Given the description of an element on the screen output the (x, y) to click on. 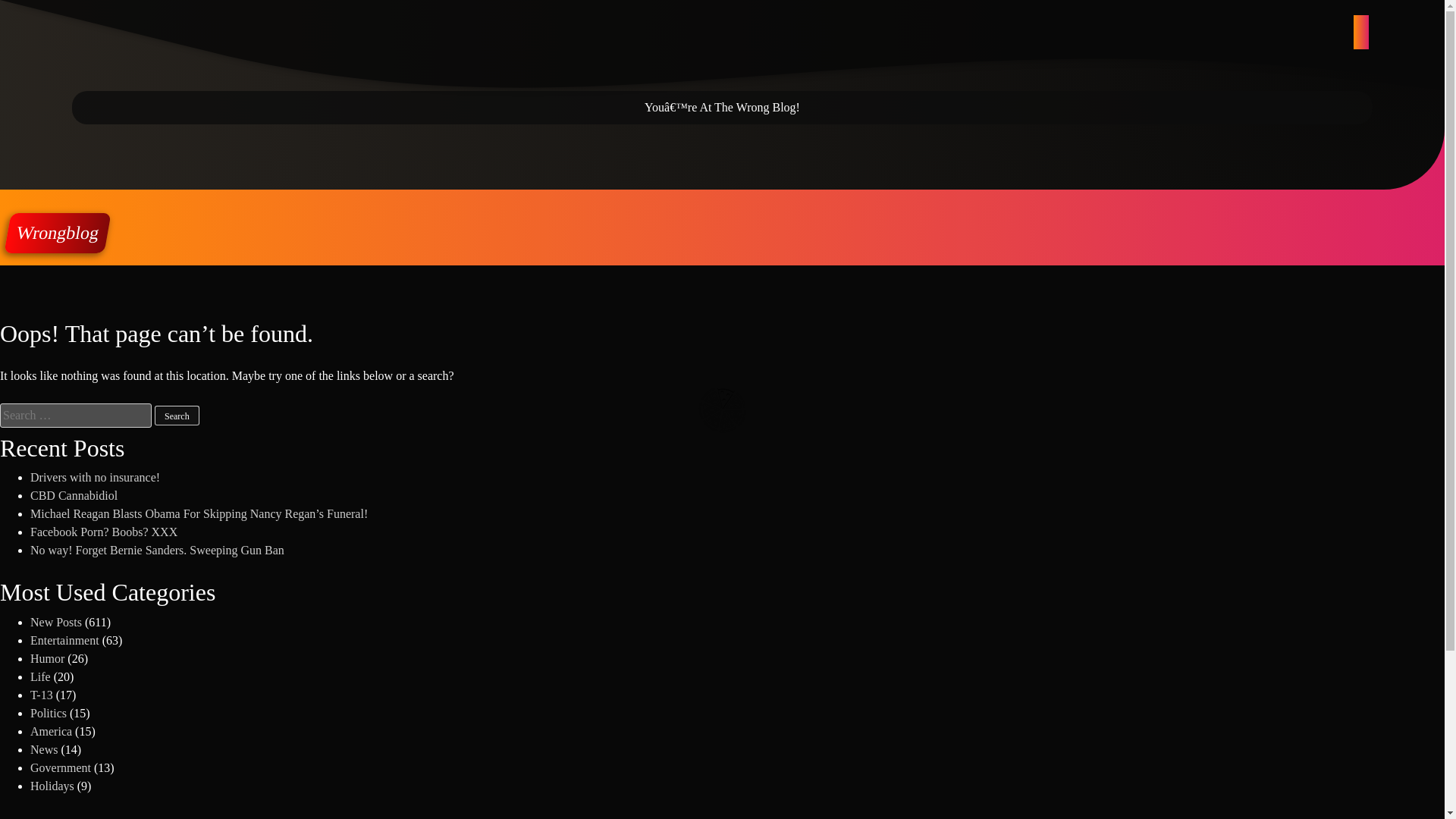
Holidays (52, 785)
Facebook Porn? Boobs? XXX (103, 531)
No way! Forget Bernie Sanders. Sweeping Gun Ban (156, 549)
Drivers with no insurance! (95, 477)
Politics (48, 712)
News (44, 748)
New Posts (55, 621)
T-13 (41, 694)
Search (176, 415)
Wrongblog (53, 232)
Government (60, 767)
CBD Cannabidiol (73, 495)
Search (176, 415)
America (50, 730)
Search (176, 415)
